Given the description of an element on the screen output the (x, y) to click on. 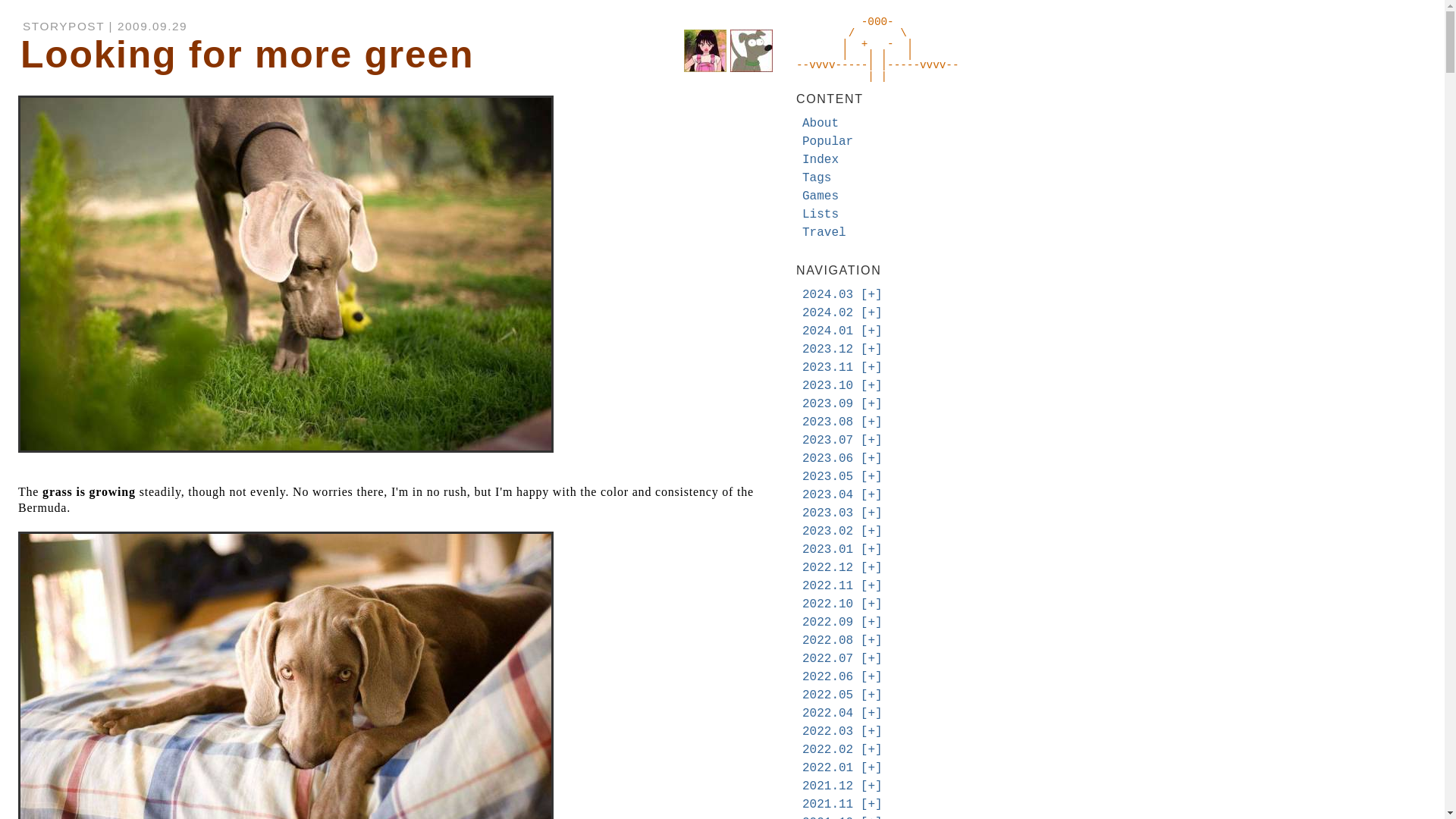
November 2023 (827, 367)
2023.01 (827, 549)
Slideshow (871, 367)
2023.05 (827, 477)
Travel (823, 232)
October 2023 (827, 386)
About (820, 123)
Slideshow (871, 331)
All posts (820, 160)
January 2024 (827, 331)
Video games (820, 196)
2023.04 (827, 495)
Slideshow (871, 349)
All tags (816, 178)
2024.02 (827, 313)
